Given the description of an element on the screen output the (x, y) to click on. 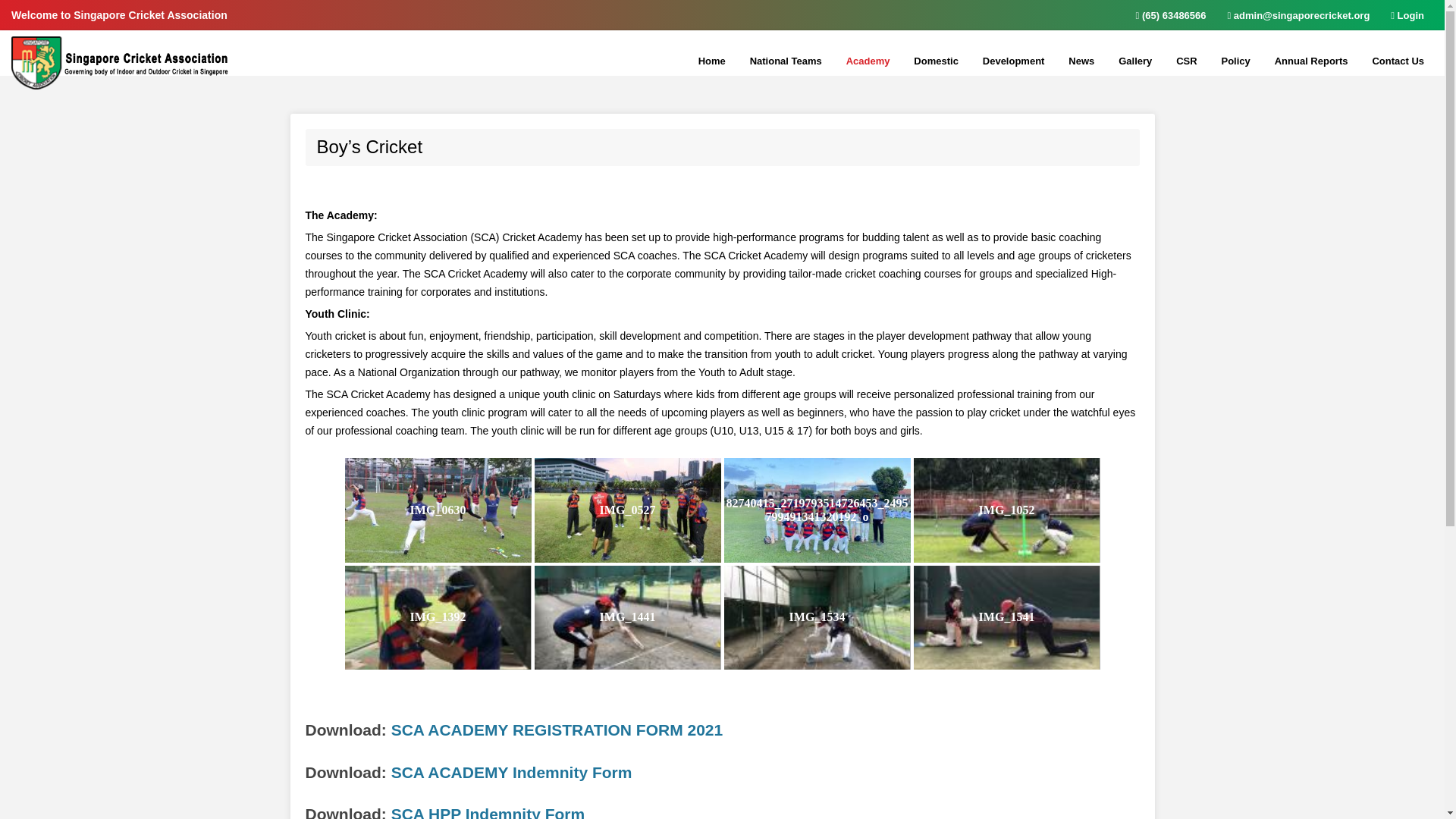
Academy (868, 61)
CSR (1186, 61)
SCA League (972, 85)
Annual Reports (1310, 61)
Development (1014, 61)
Annual Report 2022 (1333, 85)
National Teams (786, 61)
Policy (1235, 61)
Domestic (936, 61)
News (1081, 61)
Cool Sports (1279, 85)
Overview (1041, 85)
All (1127, 85)
Login (1406, 15)
